Given the description of an element on the screen output the (x, y) to click on. 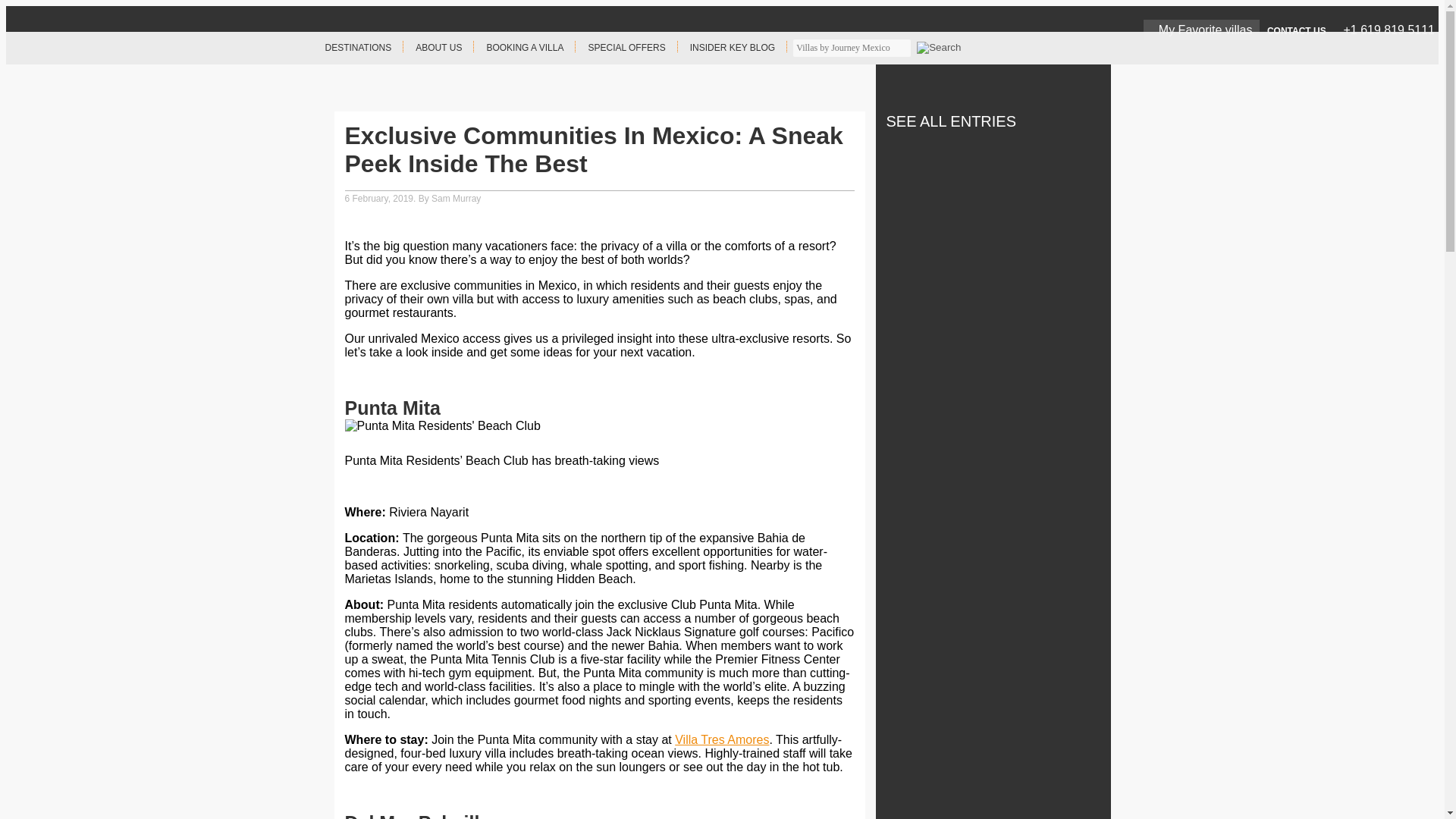
BOOKING A VILLA (524, 47)
INSIDER KEY BLOG (732, 47)
SEE ALL ENTRIES (945, 121)
Villa Tres Amores (721, 739)
My Favorite villas (1201, 29)
SPECIAL OFFERS (626, 47)
ABOUT US (438, 47)
DESTINATIONS (358, 47)
